Given the description of an element on the screen output the (x, y) to click on. 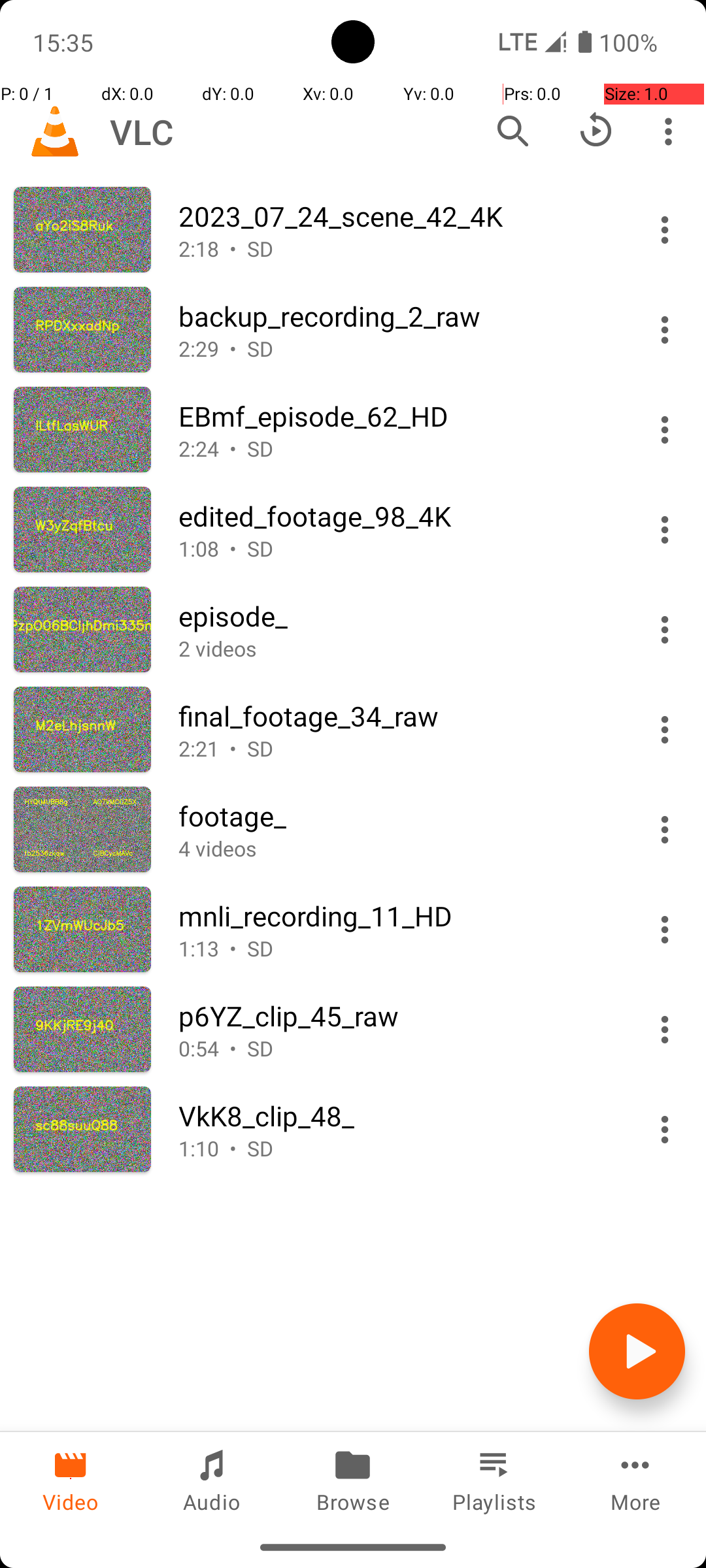
Resume playback Element type: android.widget.TextView (595, 131)
Video: 2023_07_24_scene_42_4K, Duration: 2 minutes 18 seconds Element type: android.view.ViewGroup (353, 229)
Video: backup_recording_2_raw, Duration: 2 minutes 29 seconds Element type: android.view.ViewGroup (353, 329)
Video: EBmf_episode_62_HD, Duration: 2 minutes 24 seconds Element type: android.view.ViewGroup (353, 429)
Video: edited_footage_98_4K, Duration: 1 minutes 8 seconds Element type: android.view.ViewGroup (353, 529)
Video group: episode_, 2 videos Element type: android.view.ViewGroup (353, 629)
Video: final_footage_34_raw, Duration: 2 minutes 21 seconds Element type: android.view.ViewGroup (353, 729)
Video group: footage_, 4 videos Element type: android.view.ViewGroup (353, 829)
Video: mnli_recording_11_HD, Duration: 1 minutes 13 seconds Element type: android.view.ViewGroup (353, 929)
Video: p6YZ_clip_45_raw, Duration: 54 seconds Element type: android.view.ViewGroup (353, 1029)
Video: VkK8_clip_48_, Duration: 1 minutes 10 seconds Element type: android.view.ViewGroup (353, 1129)
2023_07_24_scene_42_4K Element type: android.widget.TextView (397, 215)
2:18  •  SD Element type: android.widget.TextView (397, 248)
backup_recording_2_raw Element type: android.widget.TextView (397, 315)
2:29  •  SD Element type: android.widget.TextView (397, 348)
EBmf_episode_62_HD Element type: android.widget.TextView (397, 415)
2:24  •  SD Element type: android.widget.TextView (397, 448)
edited_footage_98_4K Element type: android.widget.TextView (397, 515)
1:08  •  SD Element type: android.widget.TextView (397, 548)
episode_ Element type: android.widget.TextView (397, 615)
2 videos Element type: android.widget.TextView (397, 648)
final_footage_34_raw Element type: android.widget.TextView (397, 715)
2:21  •  SD Element type: android.widget.TextView (397, 748)
footage_ Element type: android.widget.TextView (397, 815)
4 videos Element type: android.widget.TextView (397, 848)
mnli_recording_11_HD Element type: android.widget.TextView (397, 915)
1:13  •  SD Element type: android.widget.TextView (397, 948)
p6YZ_clip_45_raw Element type: android.widget.TextView (397, 1015)
0:54  •  SD Element type: android.widget.TextView (397, 1048)
VkK8_clip_48_ Element type: android.widget.TextView (397, 1115)
1:10  •  SD Element type: android.widget.TextView (397, 1148)
